Given the description of an element on the screen output the (x, y) to click on. 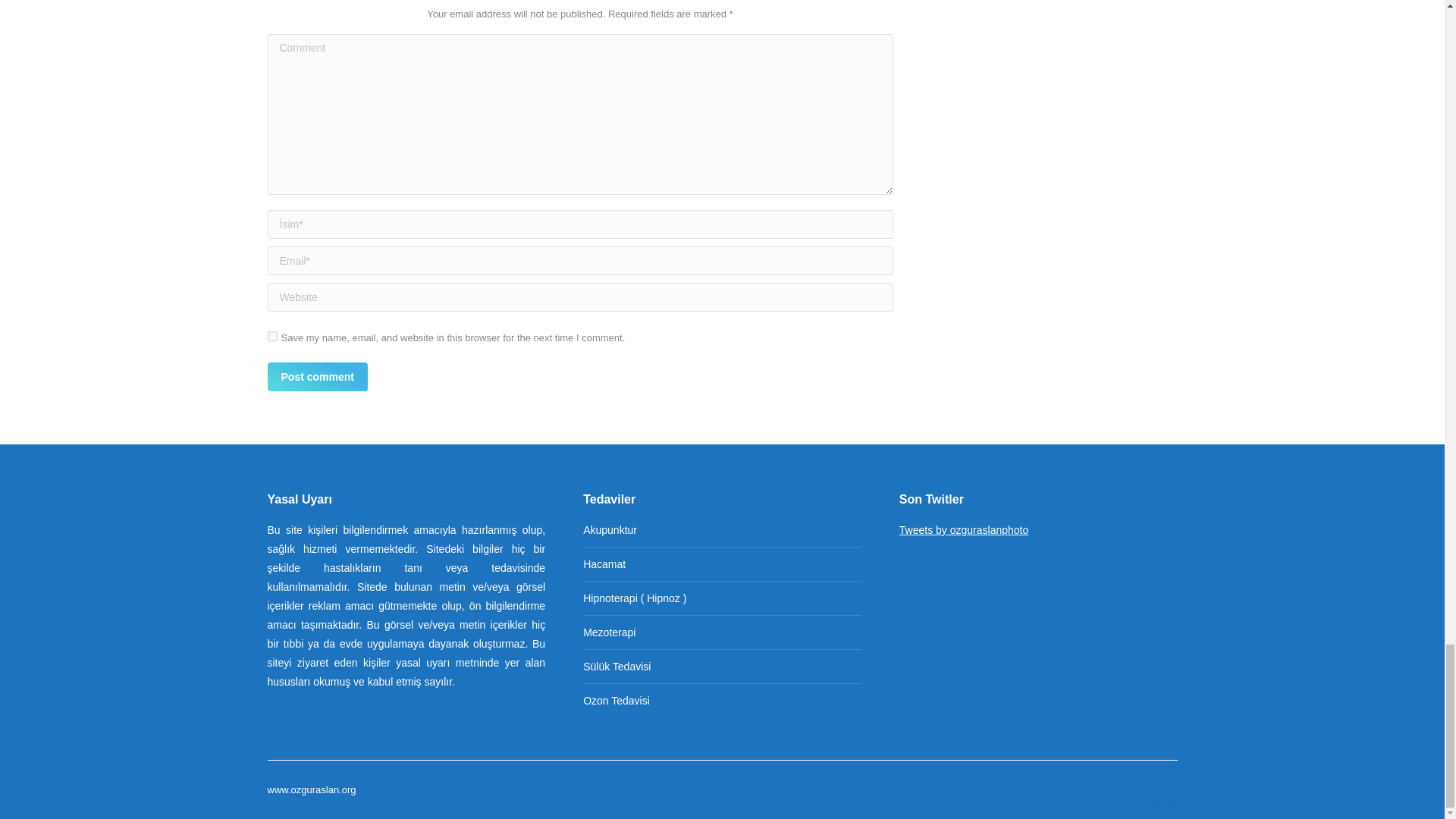
yes (271, 336)
